Given the description of an element on the screen output the (x, y) to click on. 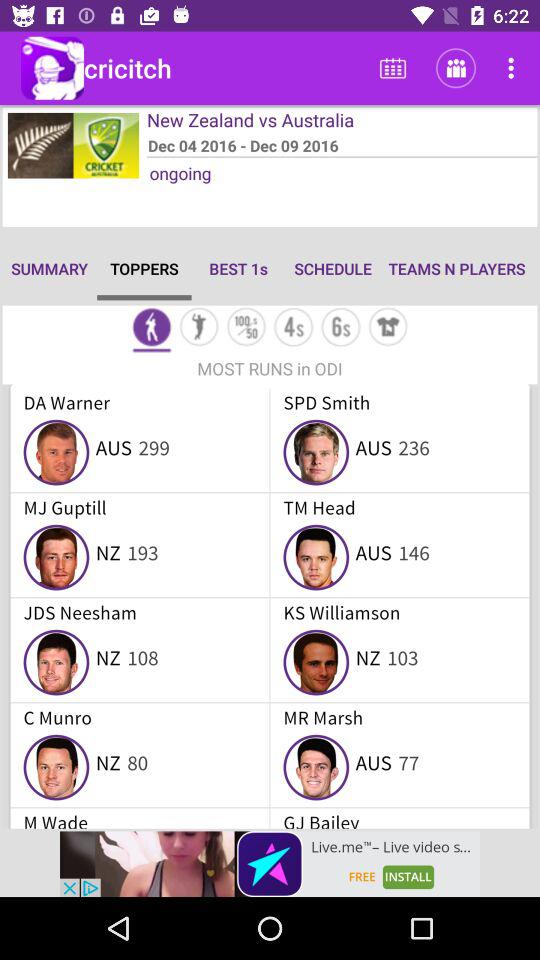
gift (387, 328)
